Given the description of an element on the screen output the (x, y) to click on. 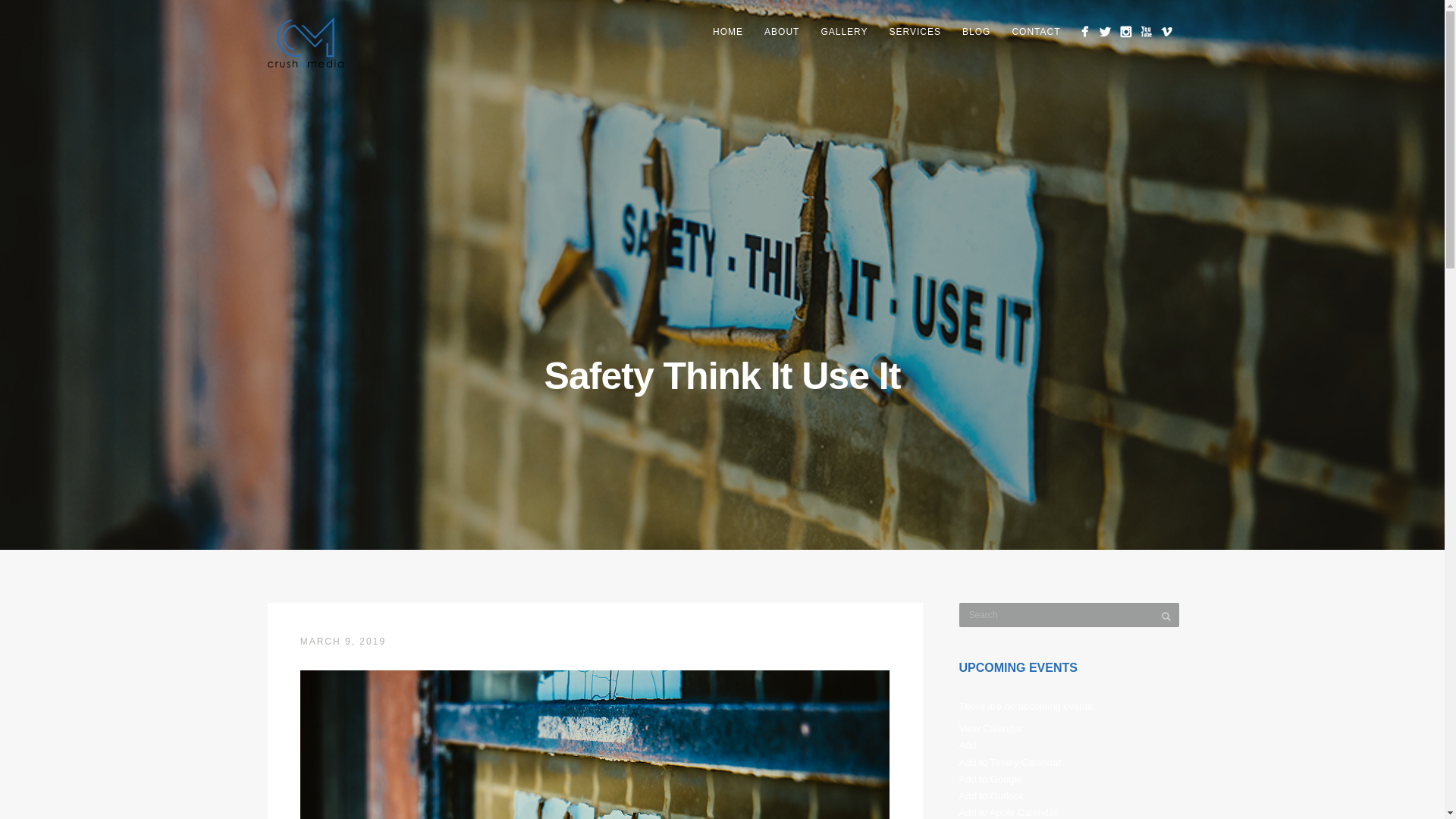
Subscribe to this calendar in your Google Calendar (990, 778)
SERVICES (915, 31)
Add to Google (990, 778)
BLOG (976, 31)
HOME (727, 31)
CONTACT (1035, 31)
ABOUT (781, 31)
Subscribe to this calendar in MS Outlook (990, 795)
GALLERY (843, 31)
View Calendar (990, 727)
Add to Timely Calendar (1009, 762)
